Given the description of an element on the screen output the (x, y) to click on. 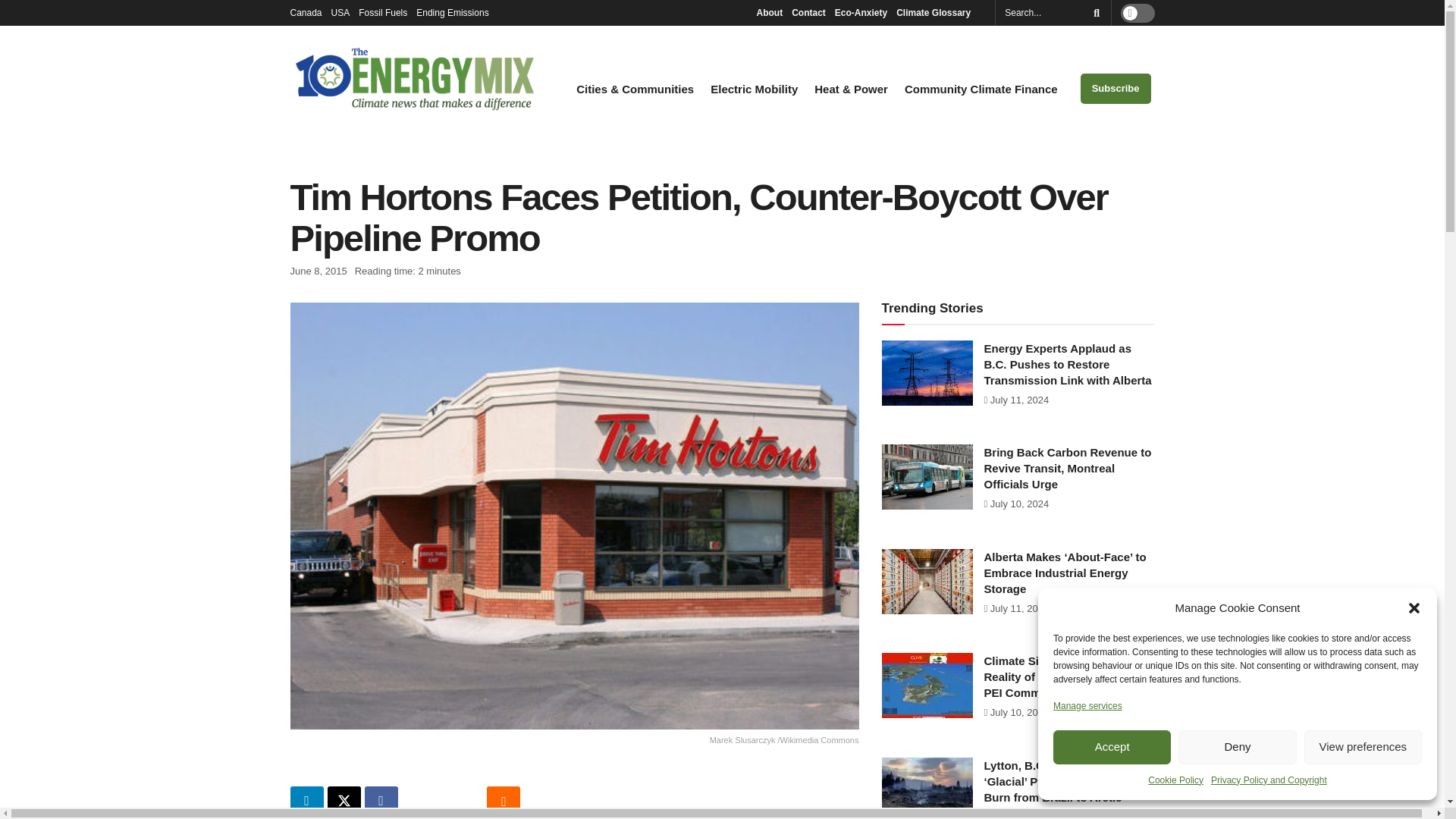
Cookie Policy (1176, 780)
Canada (305, 12)
Community Climate Finance (981, 89)
Contact (808, 12)
Accept (1111, 747)
View preferences (1363, 747)
Deny (1236, 747)
Ending Emissions (456, 12)
Manage services (1087, 705)
Electric Mobility (753, 89)
Fossil Fuels (382, 12)
Climate Glossary (937, 12)
Privacy Policy and Copyright (1268, 780)
Subscribe (1115, 88)
Eco-Anxiety (860, 12)
